Given the description of an element on the screen output the (x, y) to click on. 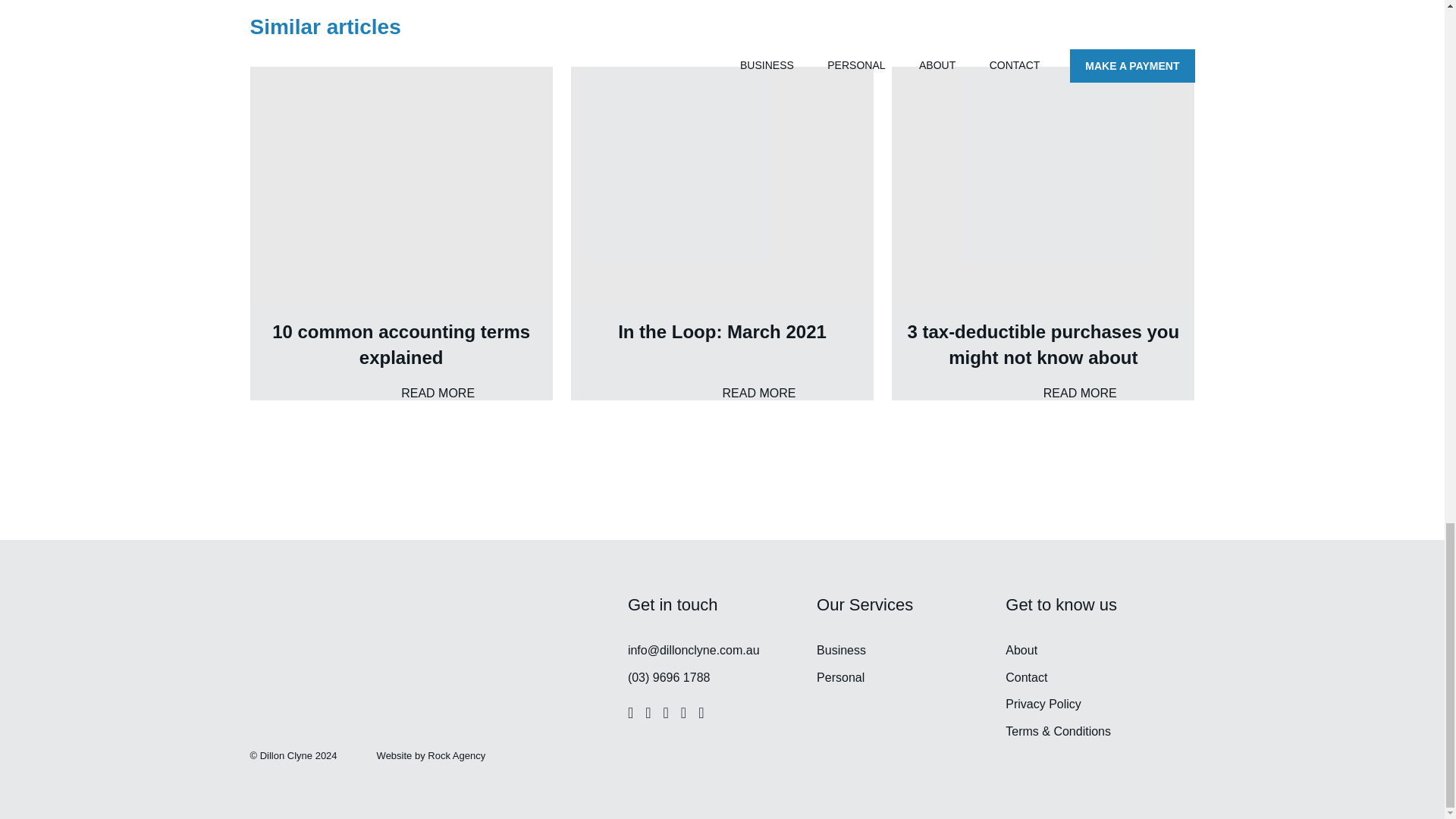
Business (841, 649)
About (721, 233)
Personal (401, 233)
Contact (1021, 649)
Privacy Policy (840, 676)
